Given the description of an element on the screen output the (x, y) to click on. 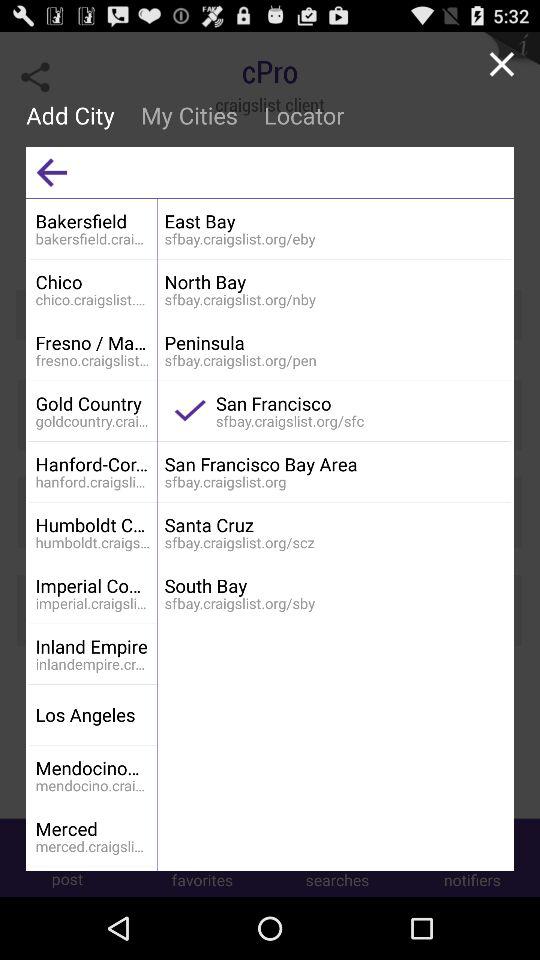
select item below the sfbay craigslist org item (334, 585)
